Given the description of an element on the screen output the (x, y) to click on. 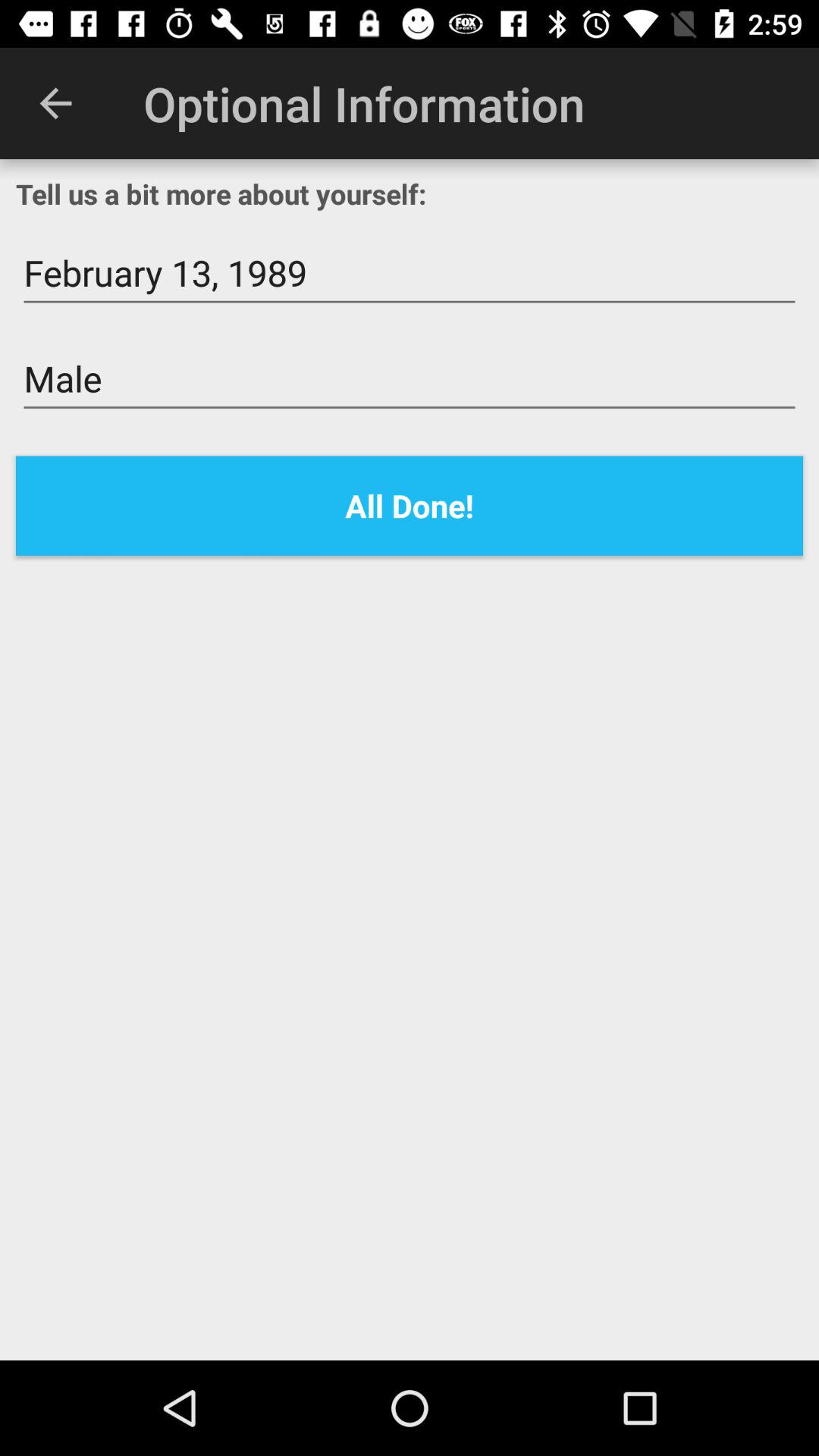
tap the male item (409, 379)
